Given the description of an element on the screen output the (x, y) to click on. 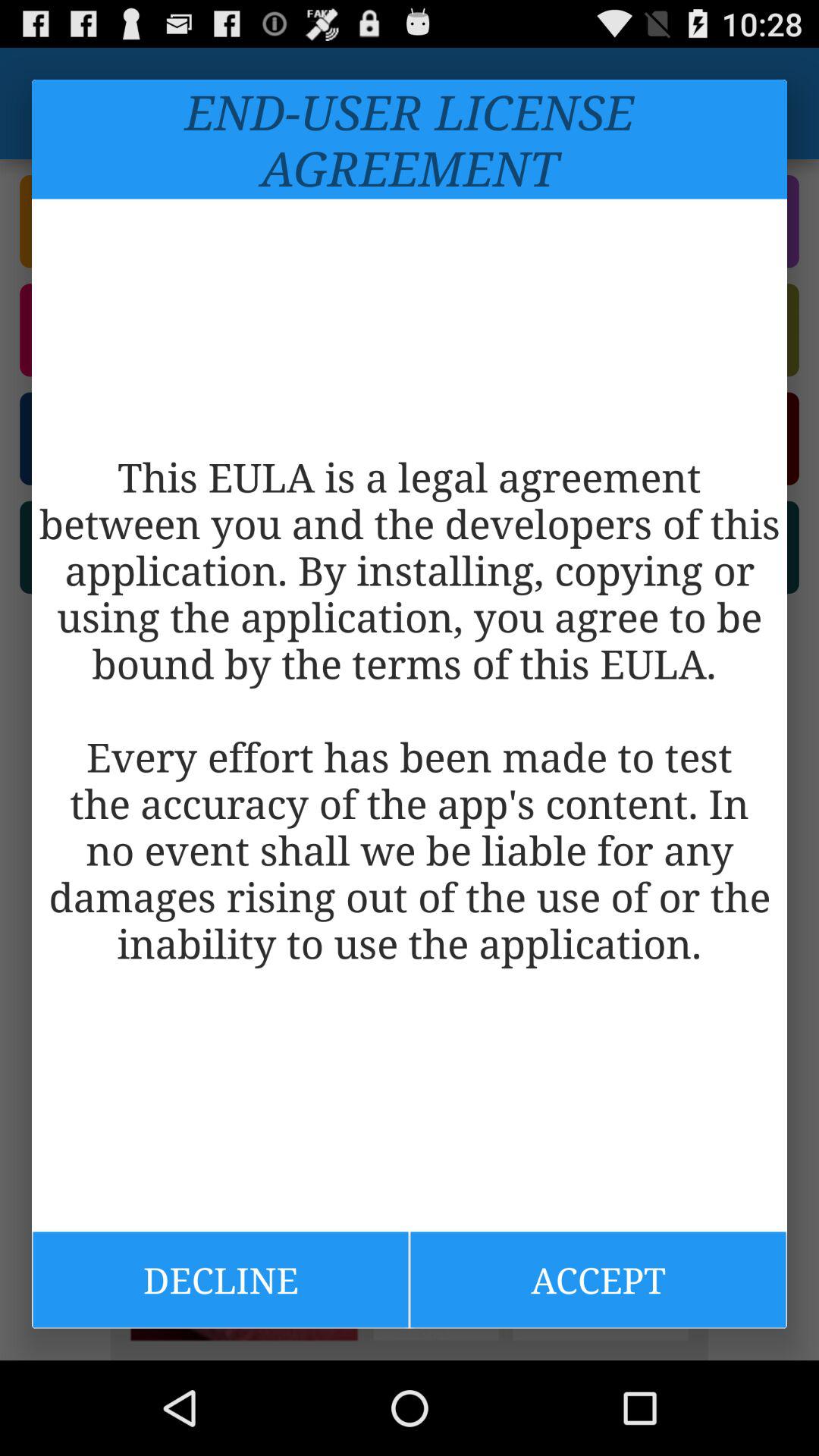
tap icon next to decline (598, 1279)
